Given the description of an element on the screen output the (x, y) to click on. 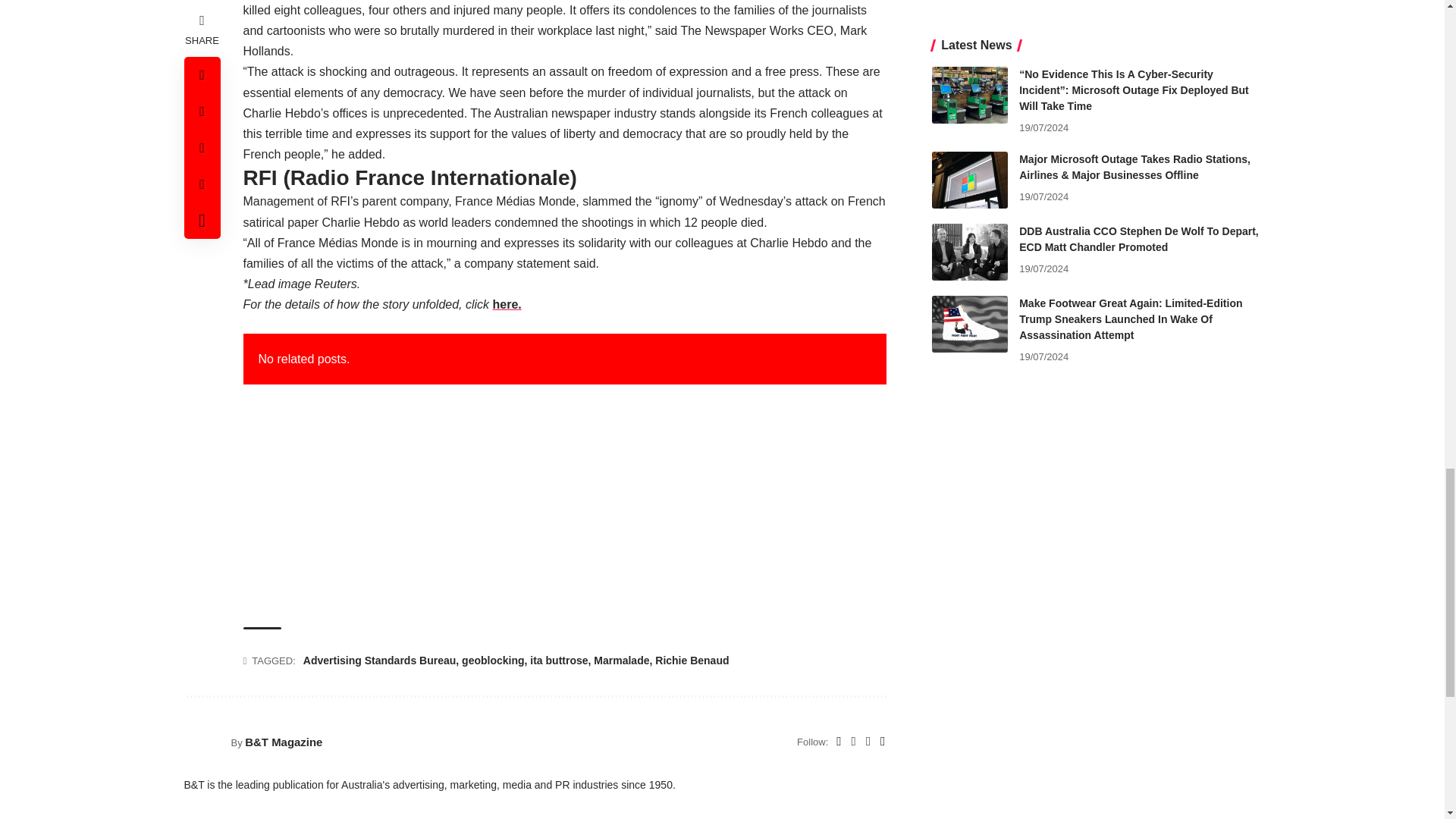
3rd party ad content (564, 505)
